Given the description of an element on the screen output the (x, y) to click on. 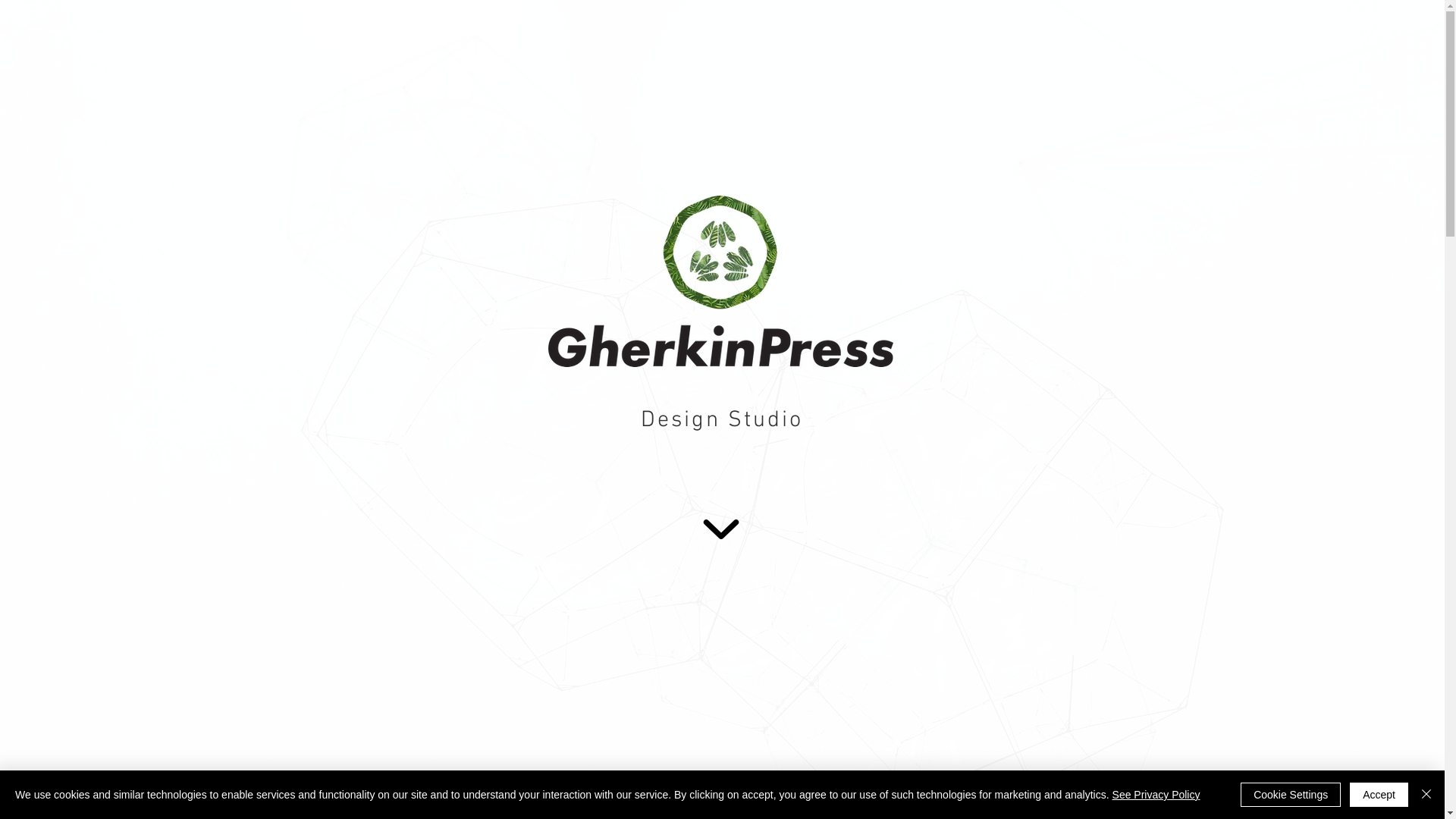
See Privacy Policy Element type: text (1156, 794)
Accept Element type: text (1378, 794)
Portfolio Element type: text (1205, 51)
Cookie Settings Element type: text (1290, 794)
About Element type: text (1281, 51)
Contact Element type: text (1355, 51)
Home Element type: text (1128, 51)
